Given the description of an element on the screen output the (x, y) to click on. 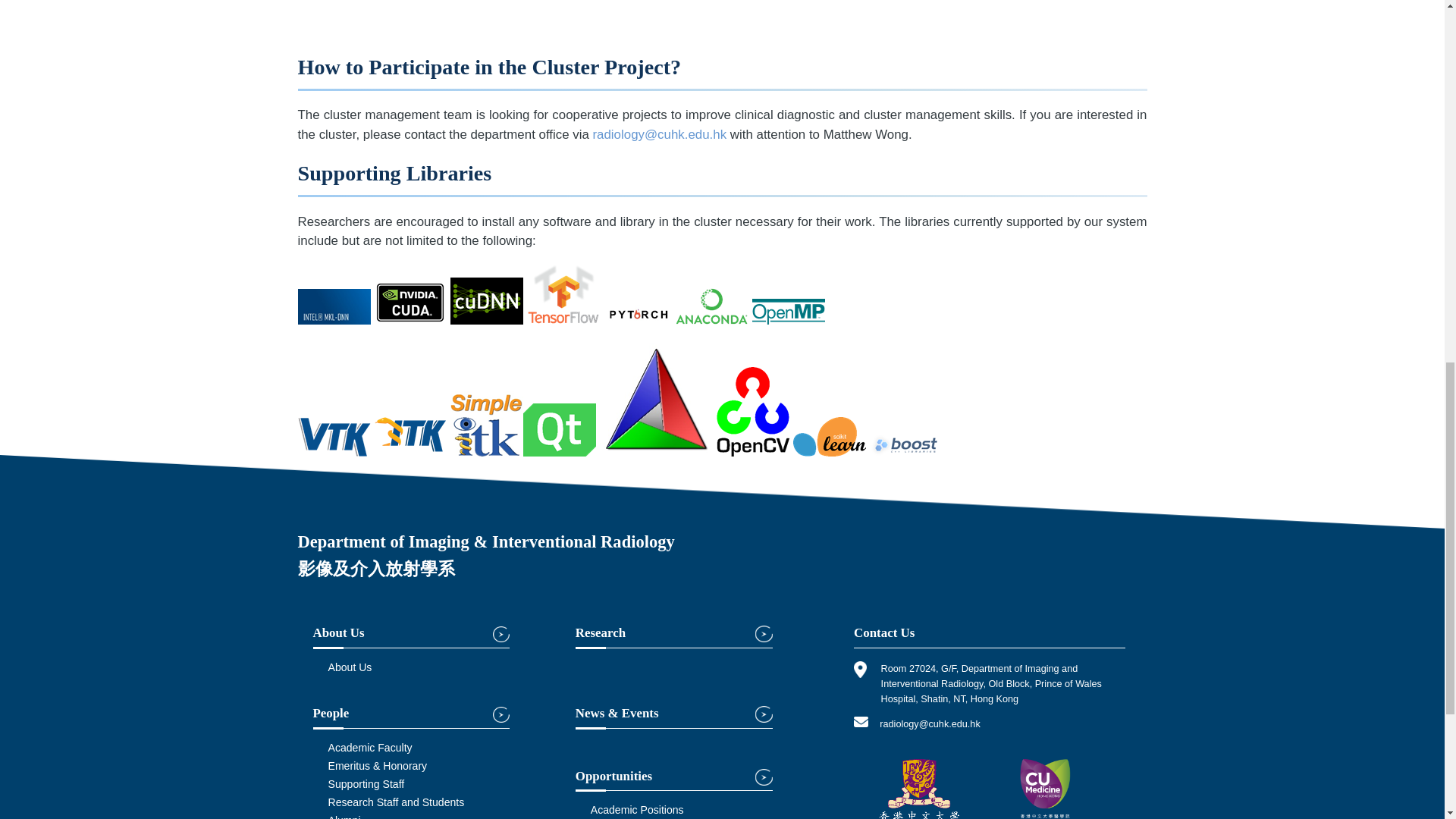
Research (674, 636)
About Us (349, 666)
About Us (411, 636)
Research Staff and Students (395, 802)
Alumni (343, 816)
Supporting Staff (365, 784)
People (411, 716)
Academic Faculty (369, 747)
